Given the description of an element on the screen output the (x, y) to click on. 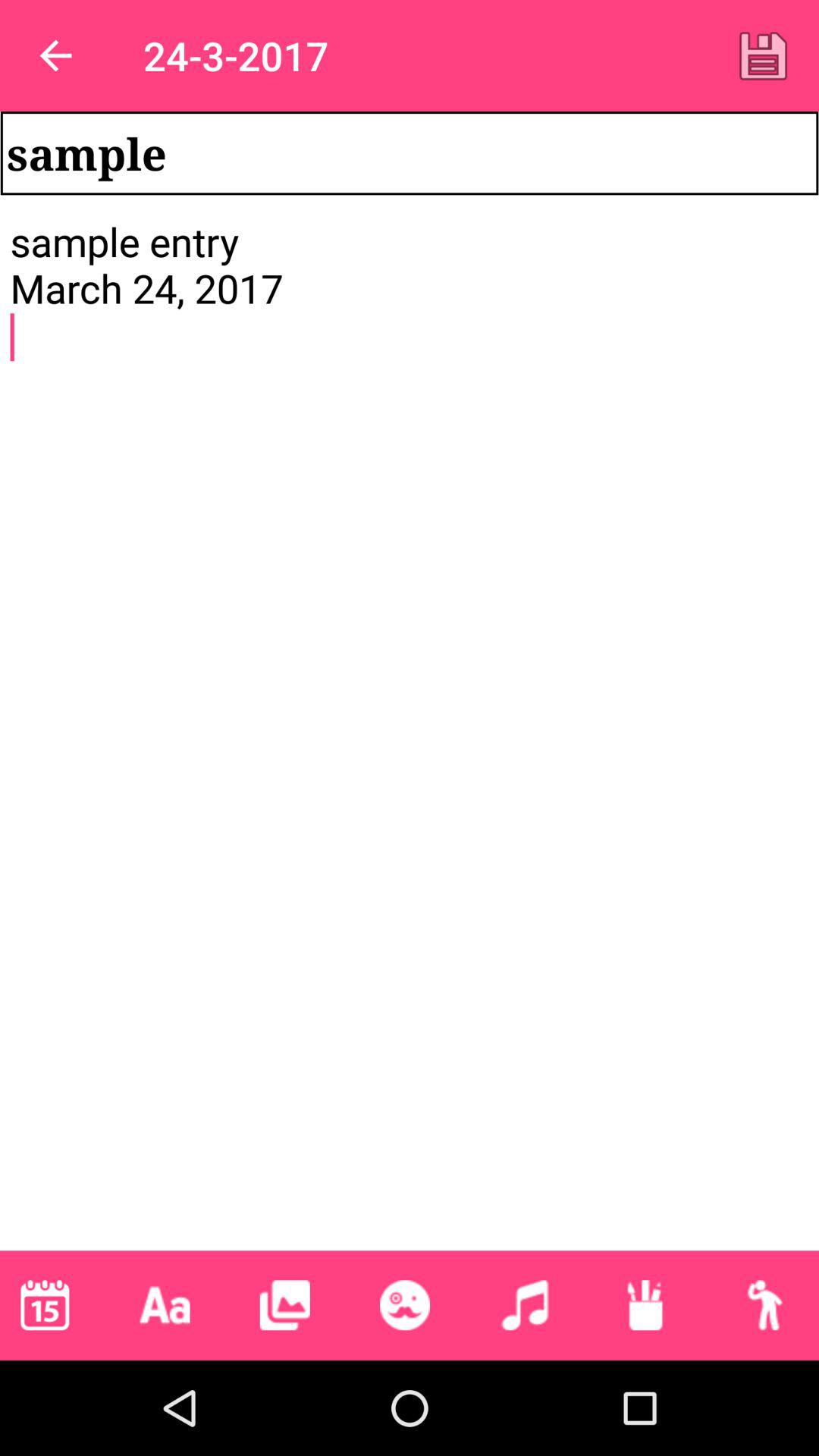
select uppercase or lowercase letters (164, 1305)
